Given the description of an element on the screen output the (x, y) to click on. 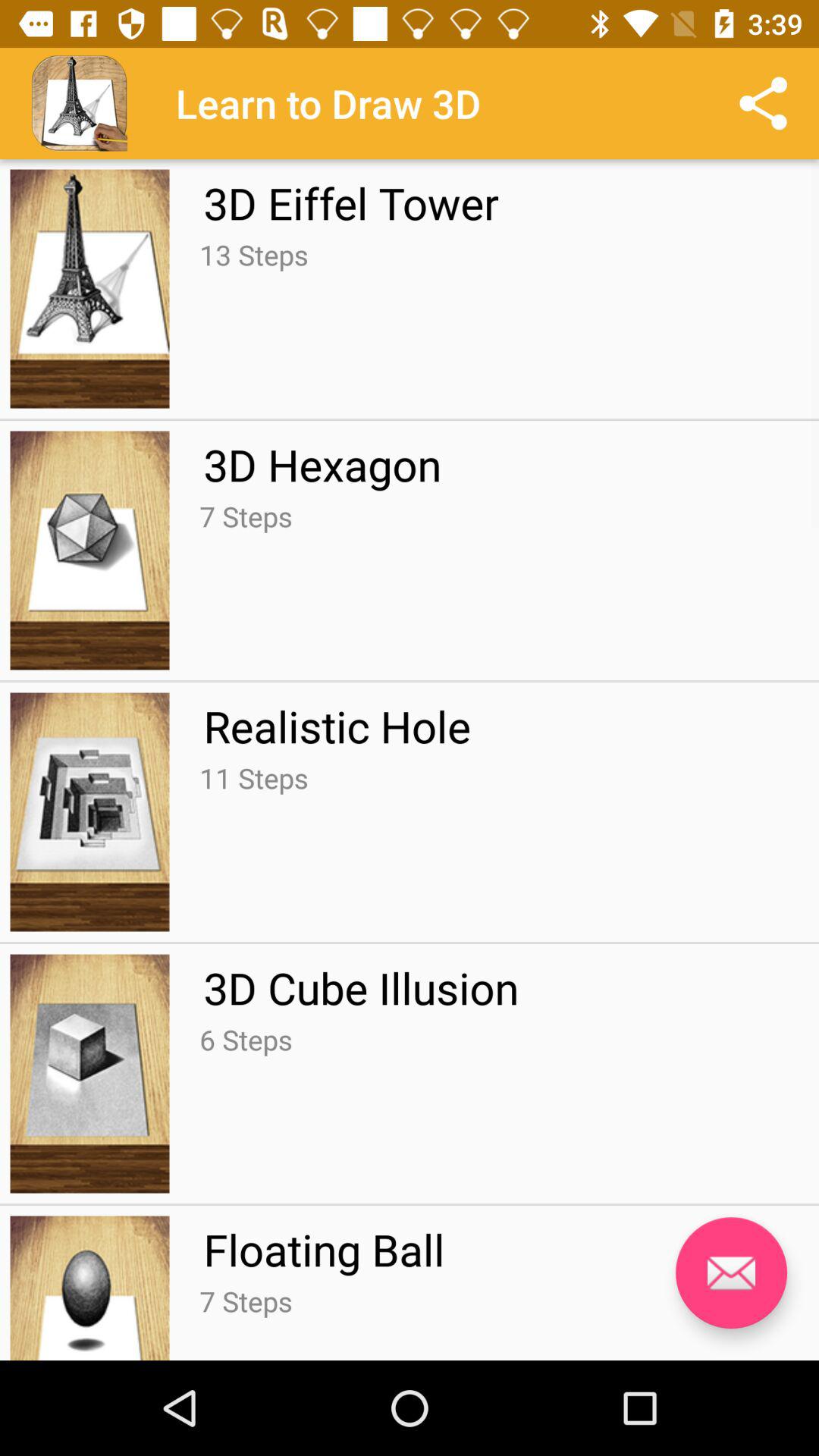
message (731, 1272)
